Given the description of an element on the screen output the (x, y) to click on. 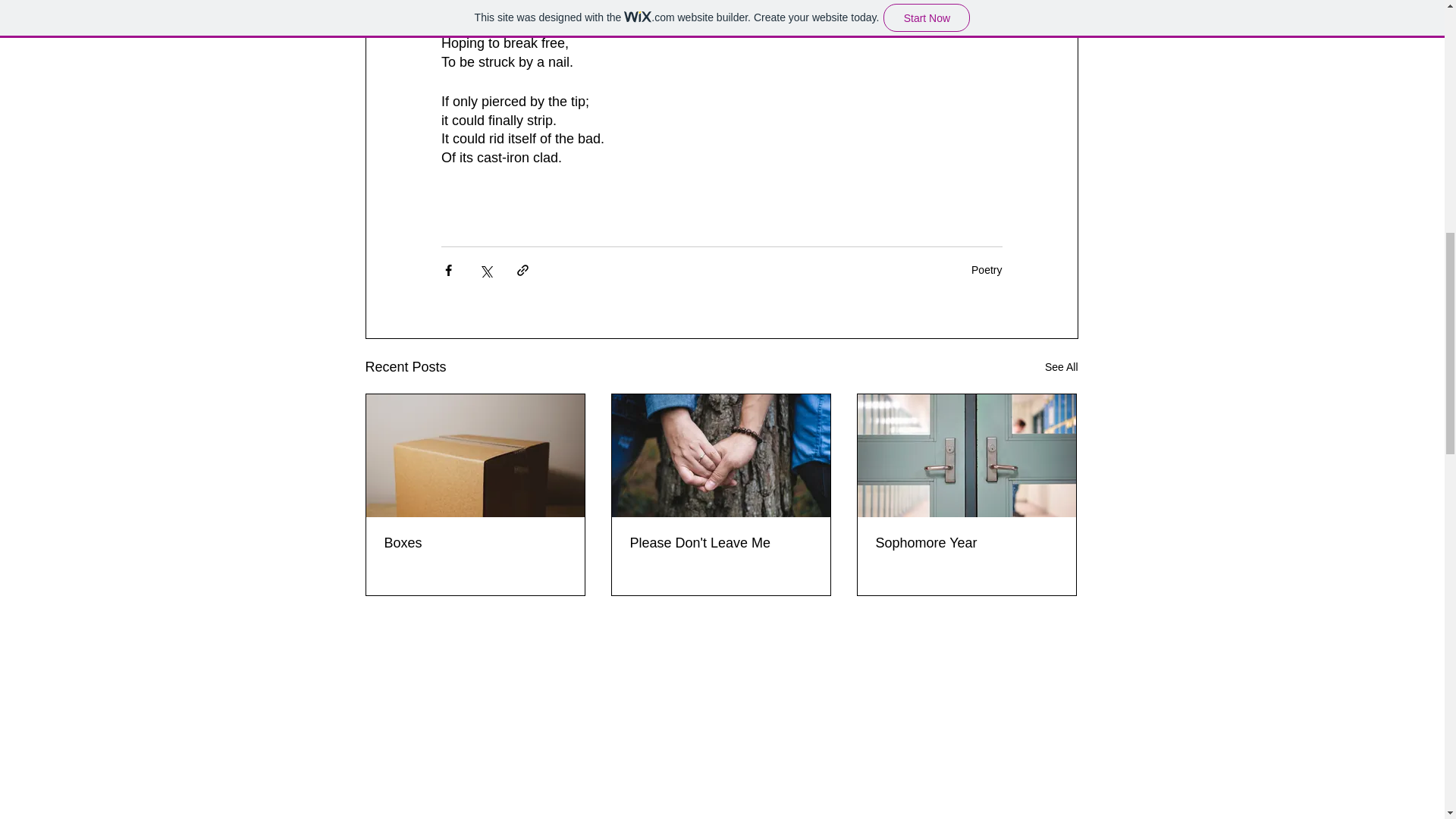
Boxes (475, 543)
Sophomore Year (966, 543)
Poetry (986, 269)
Please Don't Leave Me (719, 543)
See All (1061, 367)
